Given the description of an element on the screen output the (x, y) to click on. 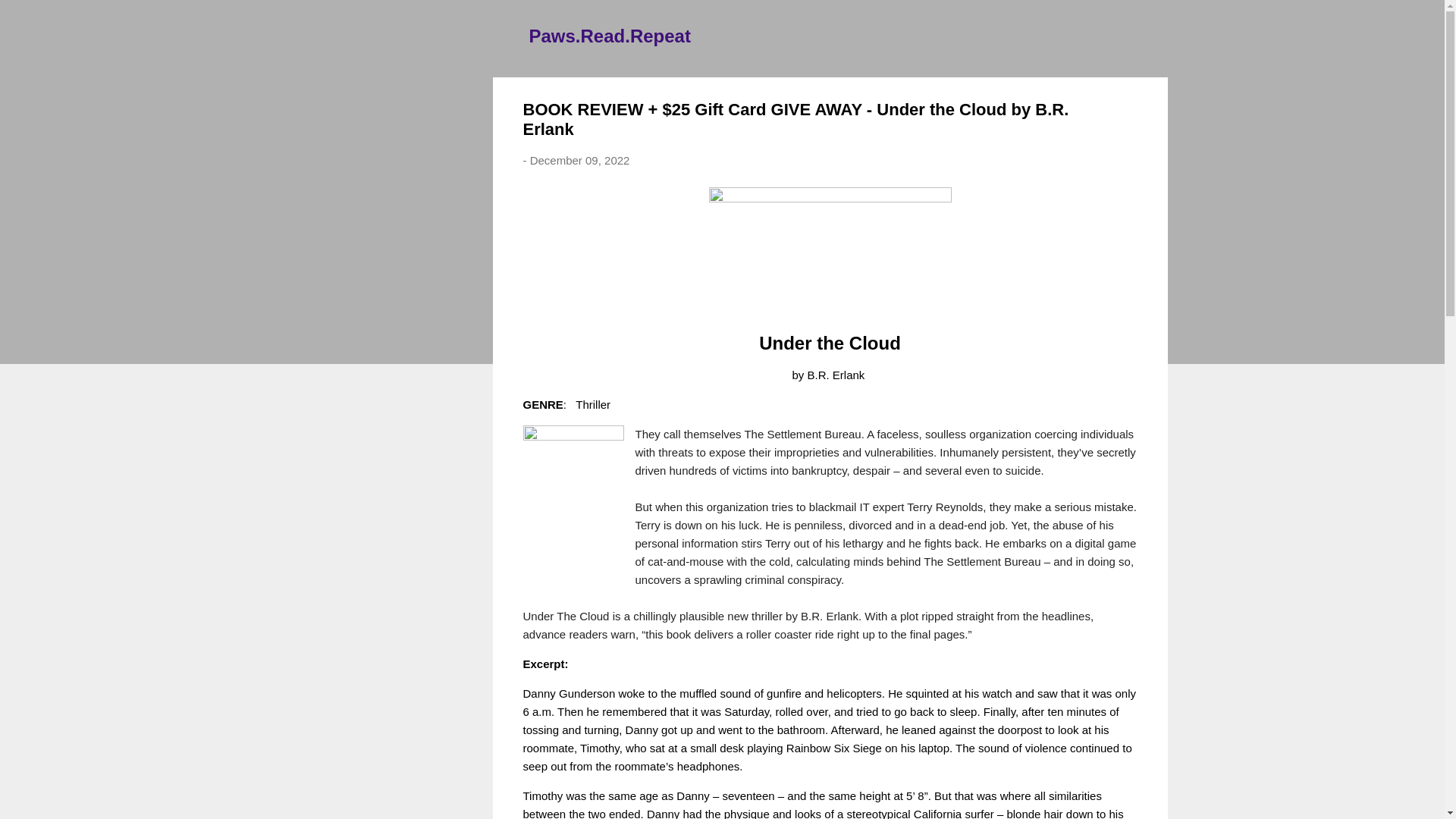
permanent link (579, 160)
Paws.Read.Repeat (609, 35)
December 09, 2022 (579, 160)
Search (29, 18)
